Given the description of an element on the screen output the (x, y) to click on. 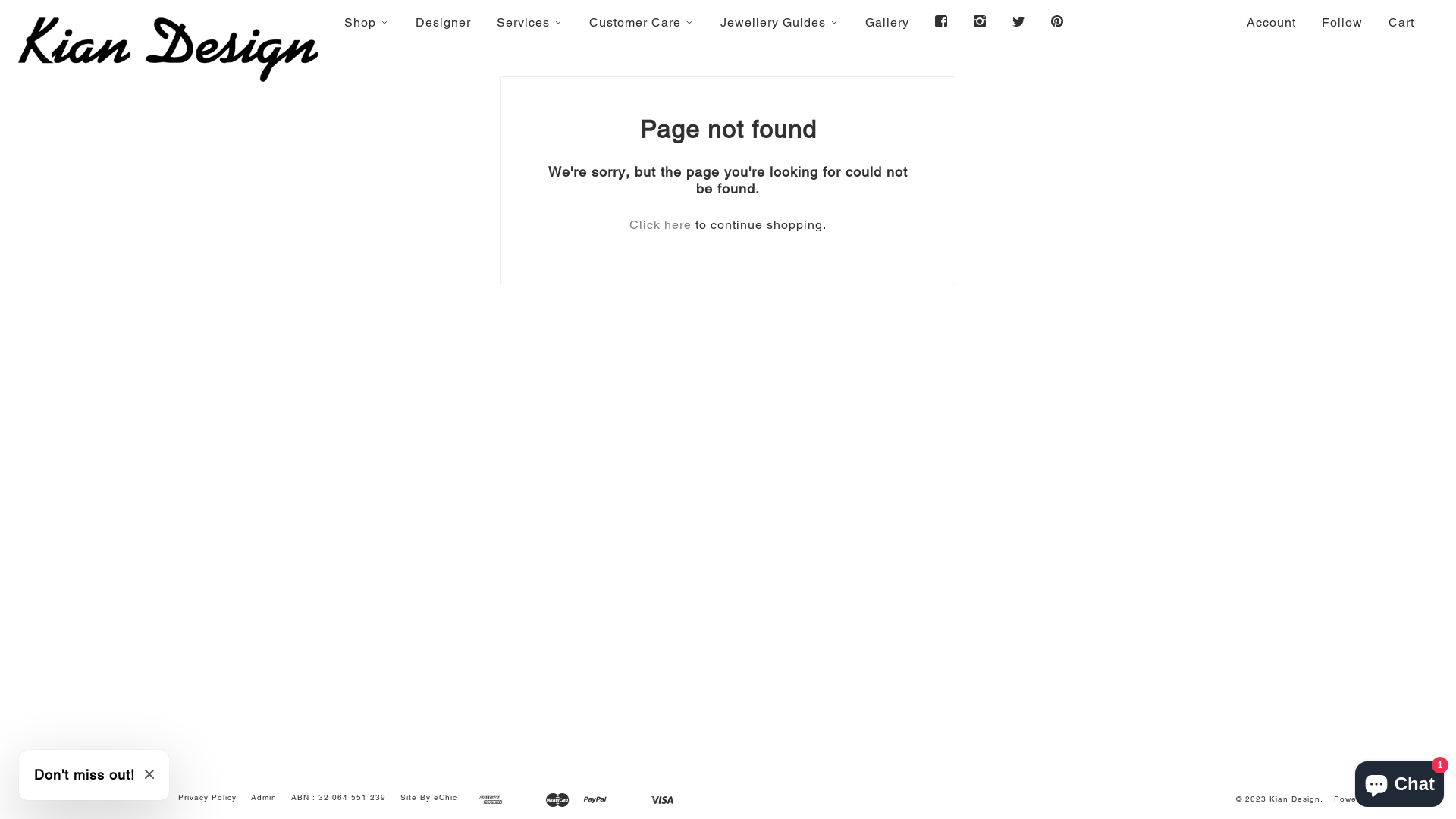
Click here Element type: text (660, 224)
Powered by Shopify Element type: text (1375, 798)
Customer Care Element type: text (641, 22)
Shopify online store chat Element type: hover (1399, 780)
Facebook Element type: hover (941, 21)
Admin Element type: text (263, 797)
ABN : 32 064 551 239 Element type: text (338, 797)
Cart Element type: text (1401, 22)
Twitter Element type: hover (1018, 21)
Terms & Conditions Element type: text (122, 797)
Site By eChic Element type: text (428, 797)
Designer Element type: text (442, 22)
Shop Element type: text (366, 22)
Services Element type: text (529, 22)
Search Element type: text (52, 797)
Gallery Element type: text (887, 22)
Instagram Element type: hover (979, 21)
Pinterest Element type: hover (1057, 21)
Kian Design Element type: text (1294, 798)
Kian Design Element type: hover (166, 48)
Account Element type: text (1270, 22)
Privacy Policy Element type: text (207, 797)
Jewellery Guides Element type: text (779, 22)
Follow Element type: text (1341, 22)
